Given the description of an element on the screen output the (x, y) to click on. 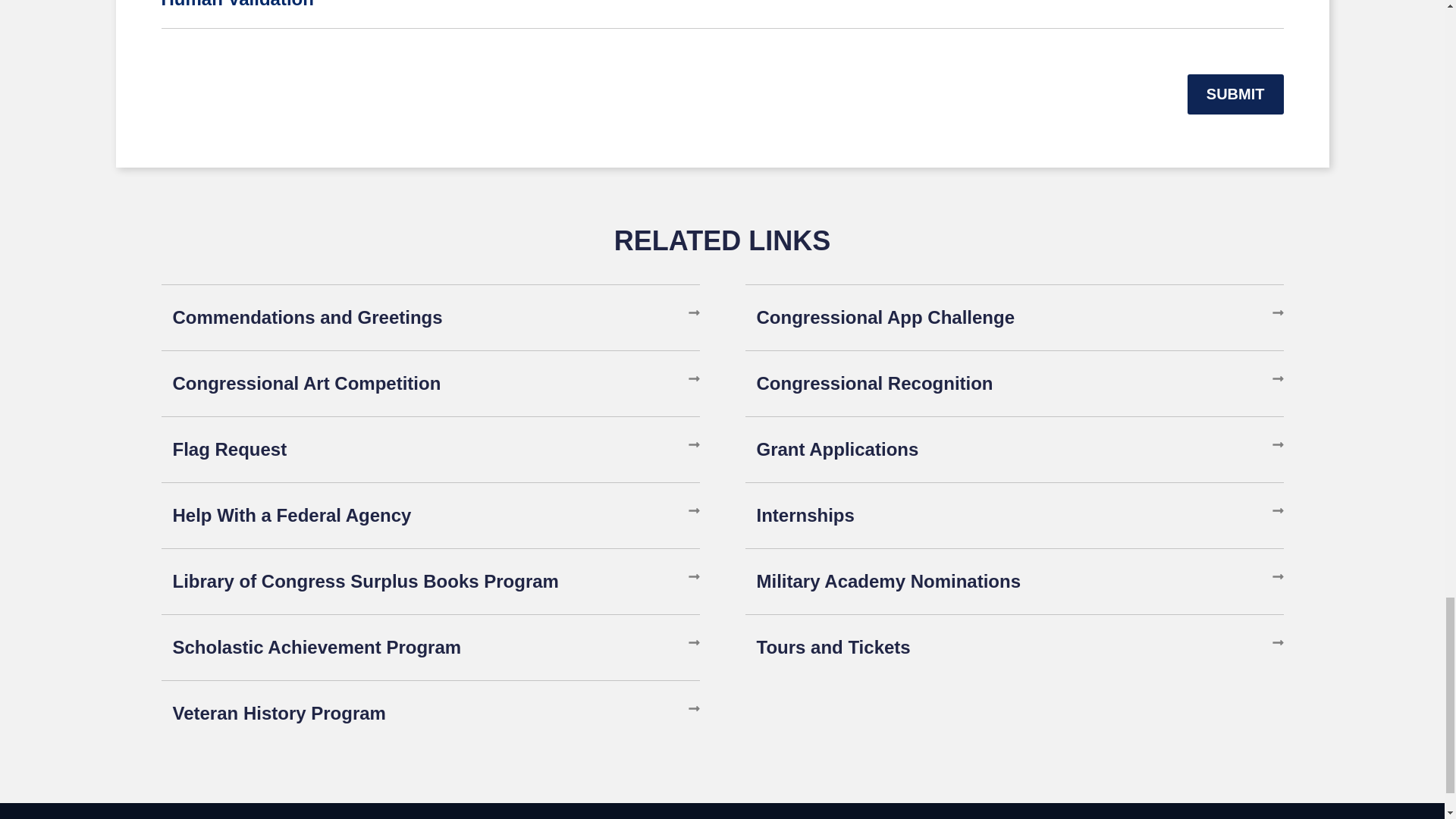
Submit (1236, 94)
